Given the description of an element on the screen output the (x, y) to click on. 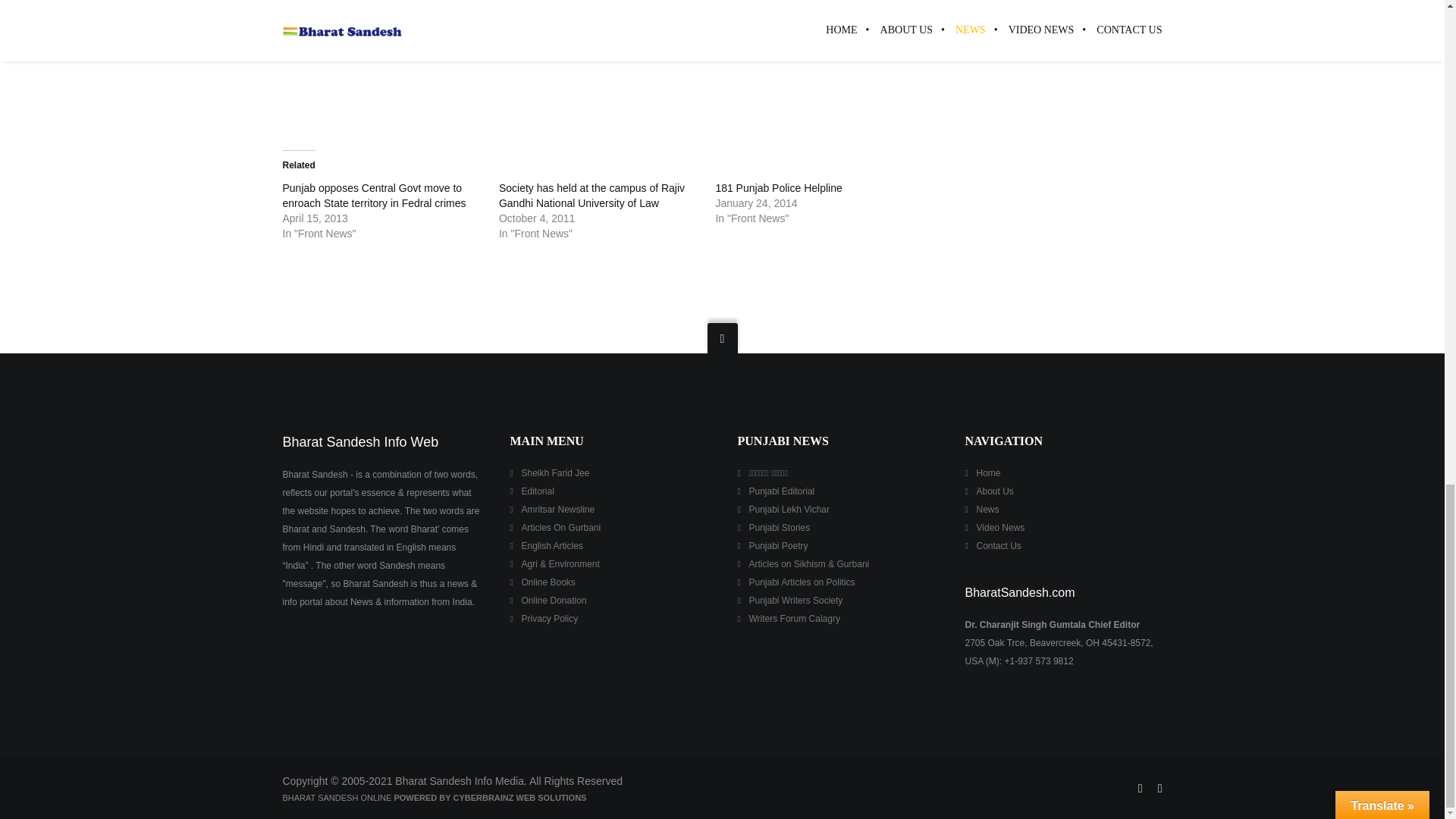
181 Punjab Police Helpline (777, 187)
181 Punjab Police Helpline (777, 187)
